Given the description of an element on the screen output the (x, y) to click on. 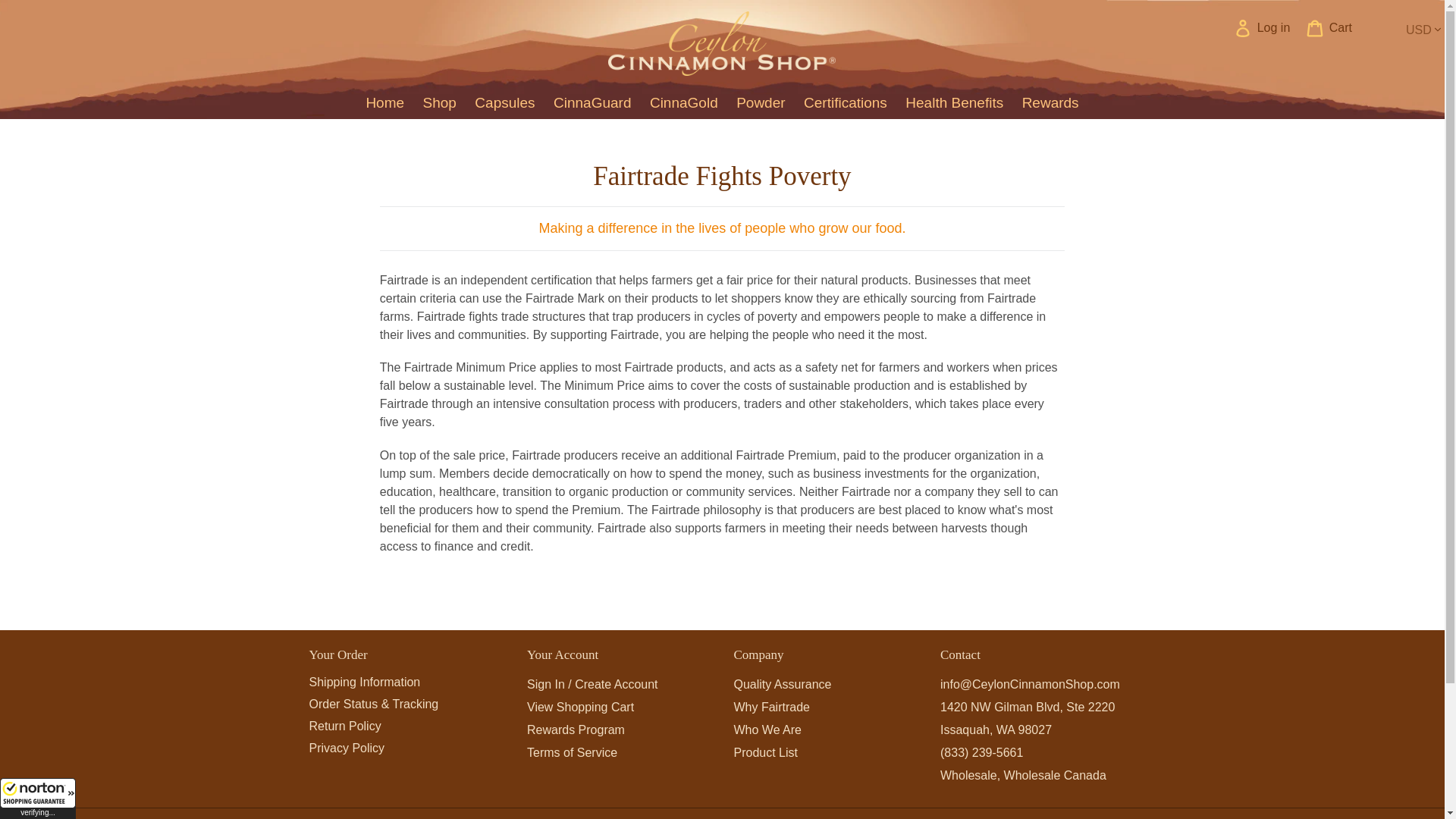
Log in (1261, 28)
Shipping Information (364, 681)
Rewards Program (575, 729)
Powder (760, 103)
Health Benefits (954, 103)
Premium Ceylon Cinnamon (765, 752)
Wholesale Canada (1055, 775)
Capsules (504, 103)
Home (385, 103)
Contact Us (1029, 684)
